Given the description of an element on the screen output the (x, y) to click on. 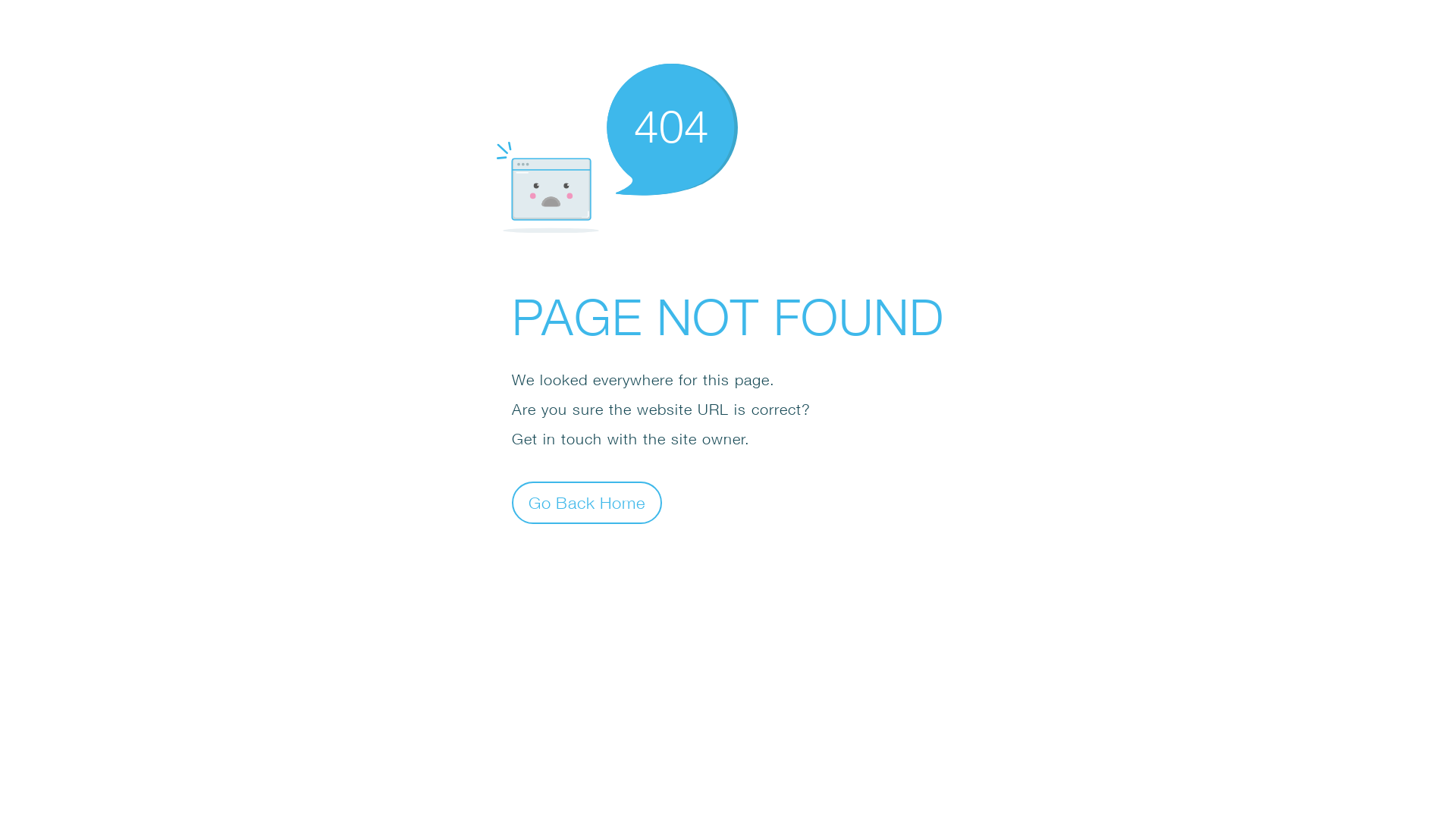
Go Back Home Element type: text (586, 502)
